Given the description of an element on the screen output the (x, y) to click on. 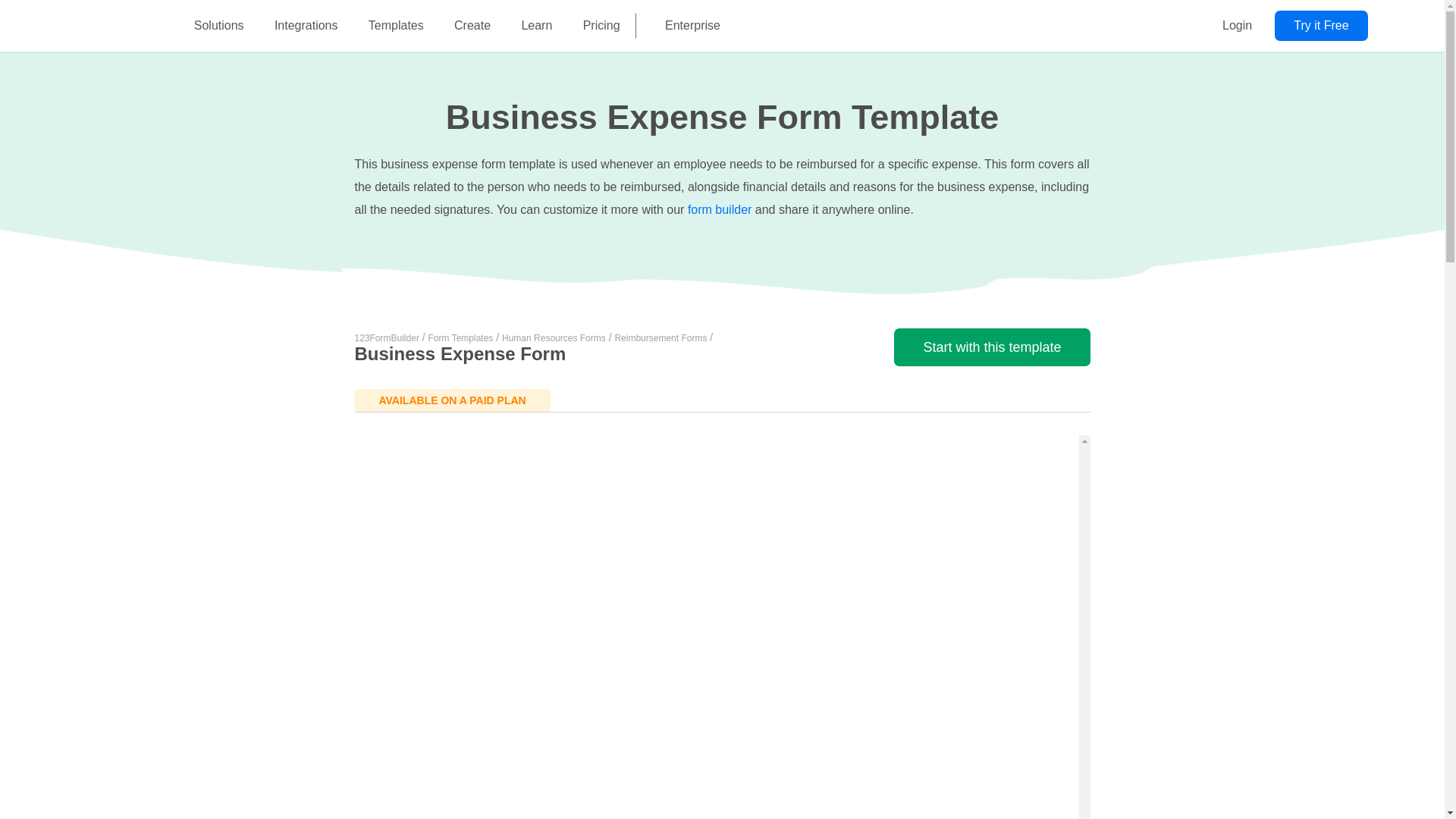
Login to your account (1236, 25)
Solutions (219, 25)
Integrations (306, 25)
